Given the description of an element on the screen output the (x, y) to click on. 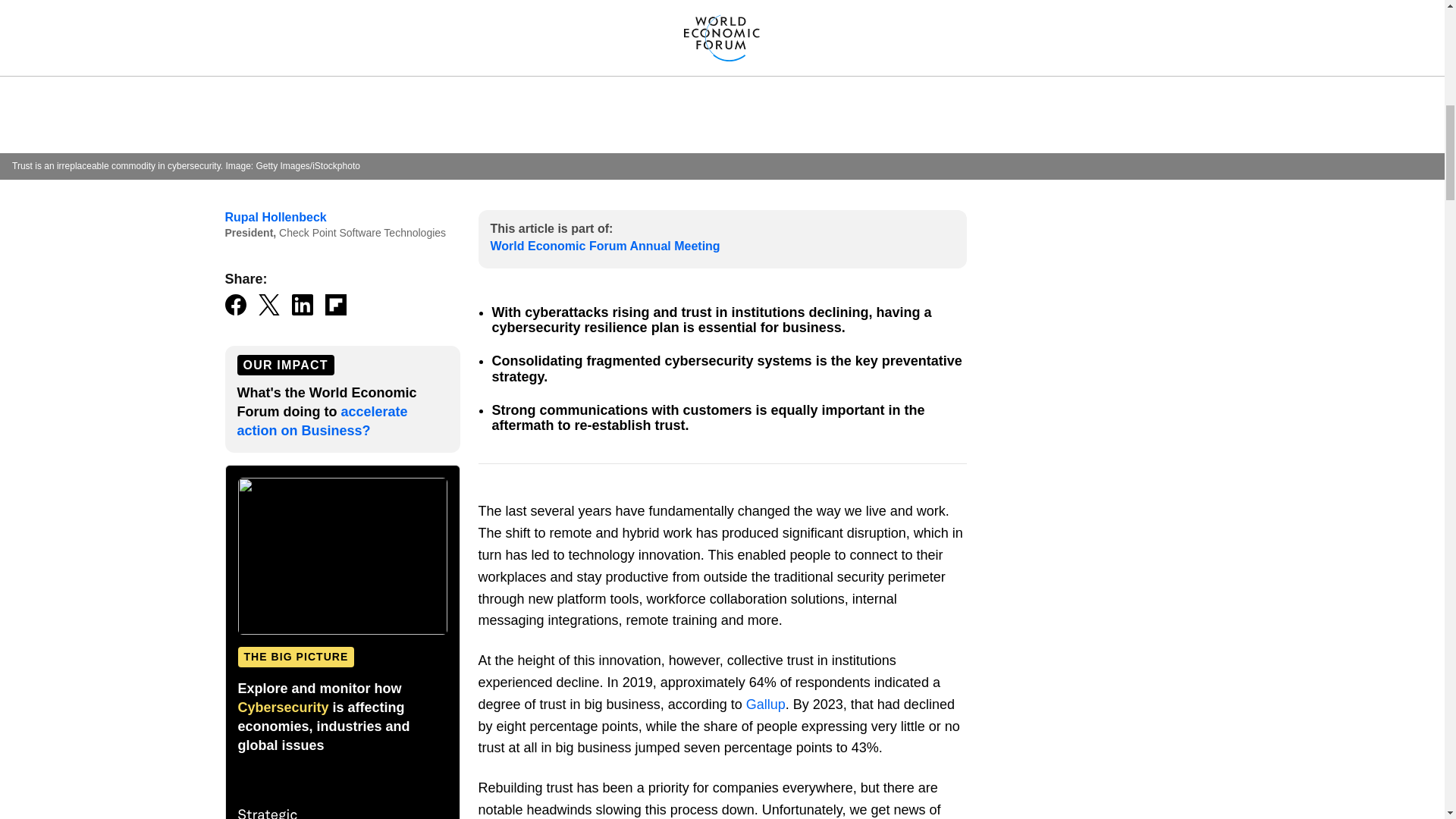
World Economic Forum Annual Meeting (604, 245)
Rupal Hollenbeck (275, 216)
Gallup (765, 703)
